Given the description of an element on the screen output the (x, y) to click on. 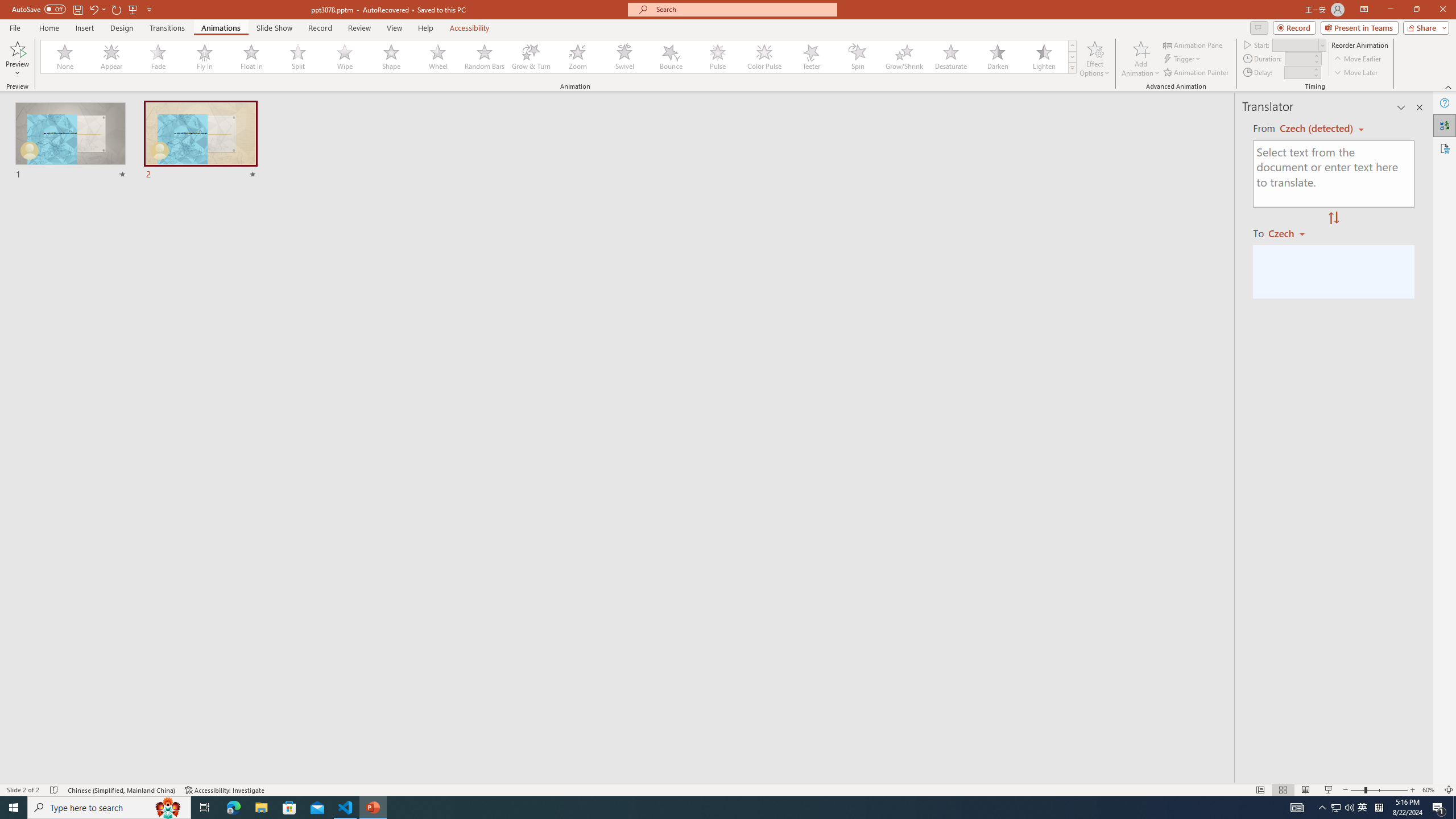
Bounce (670, 56)
AutomationID: AnimationGallery (558, 56)
Animation Duration (1298, 58)
Trigger (1182, 58)
None (65, 56)
Fade (158, 56)
Swap "from" and "to" languages. (1333, 218)
Appear (111, 56)
Czech (detected) (1317, 128)
Random Bars (484, 56)
